Given the description of an element on the screen output the (x, y) to click on. 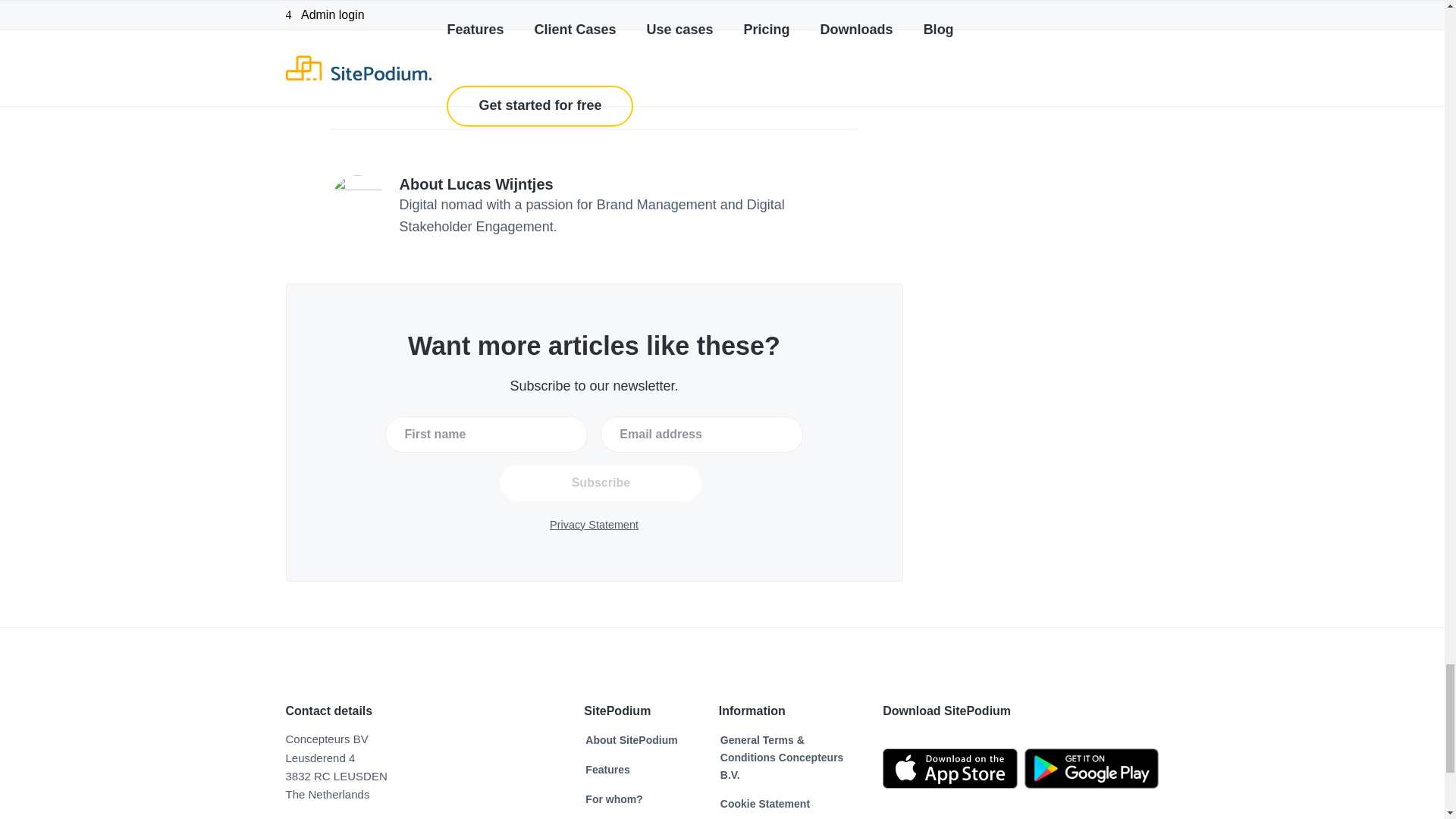
Subscribe (600, 483)
Subscribe (600, 483)
Social Impact (379, 90)
Blog (358, 73)
For whom is SitePodium? (613, 799)
